Given the description of an element on the screen output the (x, y) to click on. 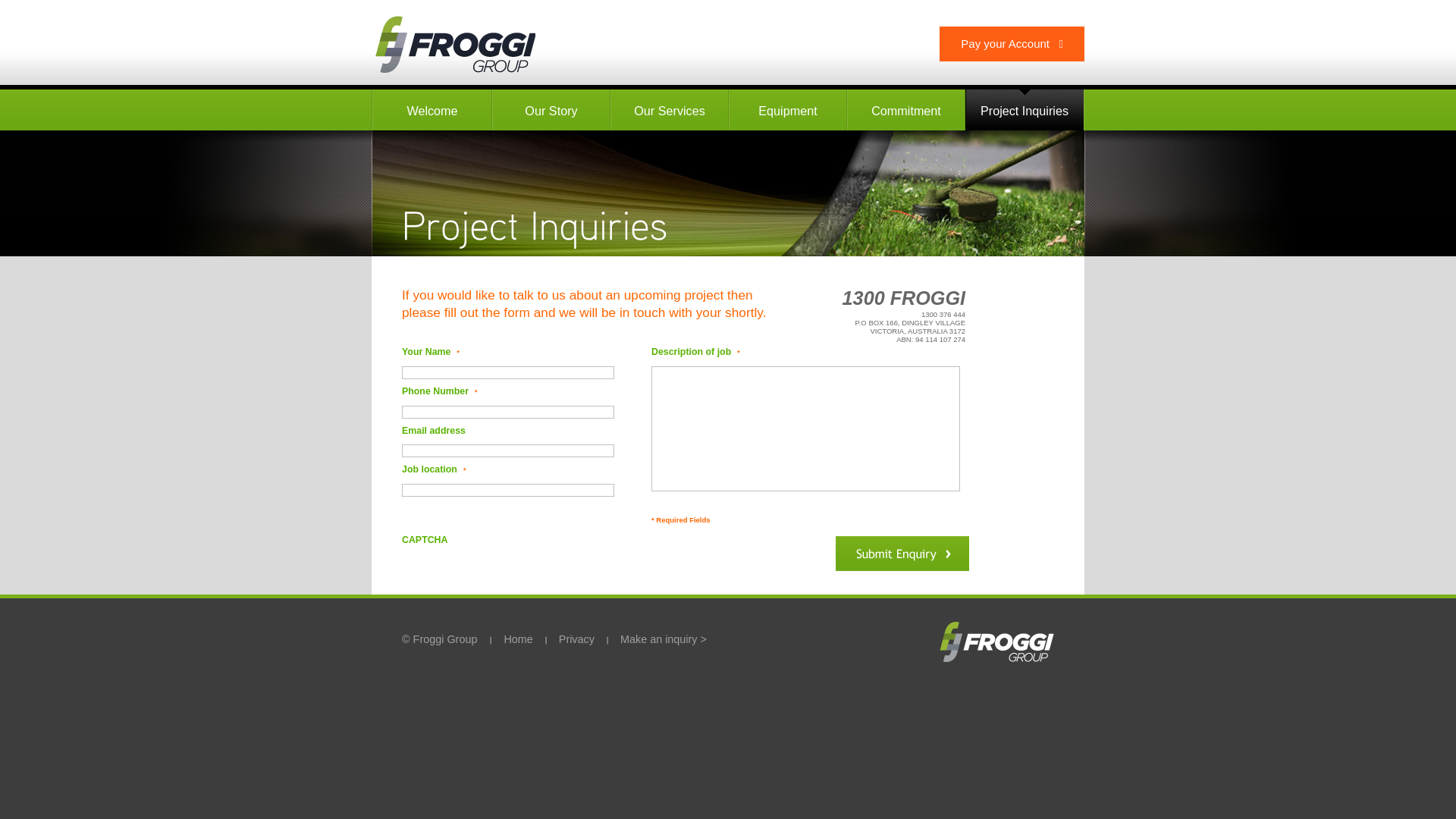
Our Story Element type: text (551, 109)
Make an inquiry > Element type: text (663, 639)
Our Services Element type: text (669, 109)
Project Inquiries Element type: text (1024, 109)
Commitment Element type: text (906, 109)
Equipment Element type: text (787, 109)
Home Element type: text (517, 639)
Welcome Element type: text (432, 109)
Privacy Element type: text (576, 639)
